Given the description of an element on the screen output the (x, y) to click on. 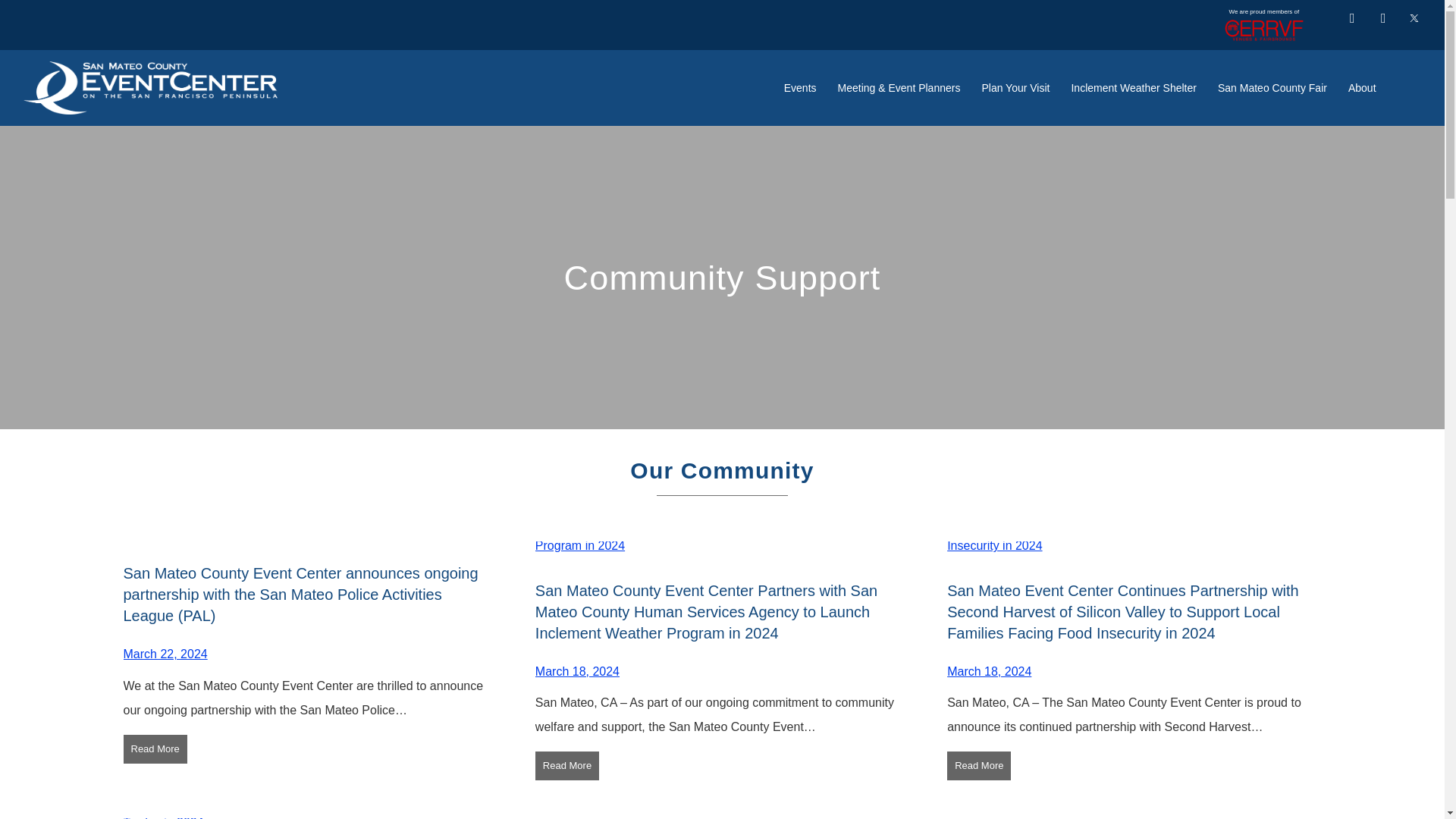
2024-03-18T16:54:41-07:00 (988, 671)
2024-03-22T10:25:30-07:00 (164, 653)
Inclement Weather Shelter (1133, 87)
2024-03-18T17:02:18-07:00 (577, 671)
Events (800, 87)
About (1362, 87)
San Mateo County Fair (1272, 87)
Plan Your Visit (1015, 87)
